Given the description of an element on the screen output the (x, y) to click on. 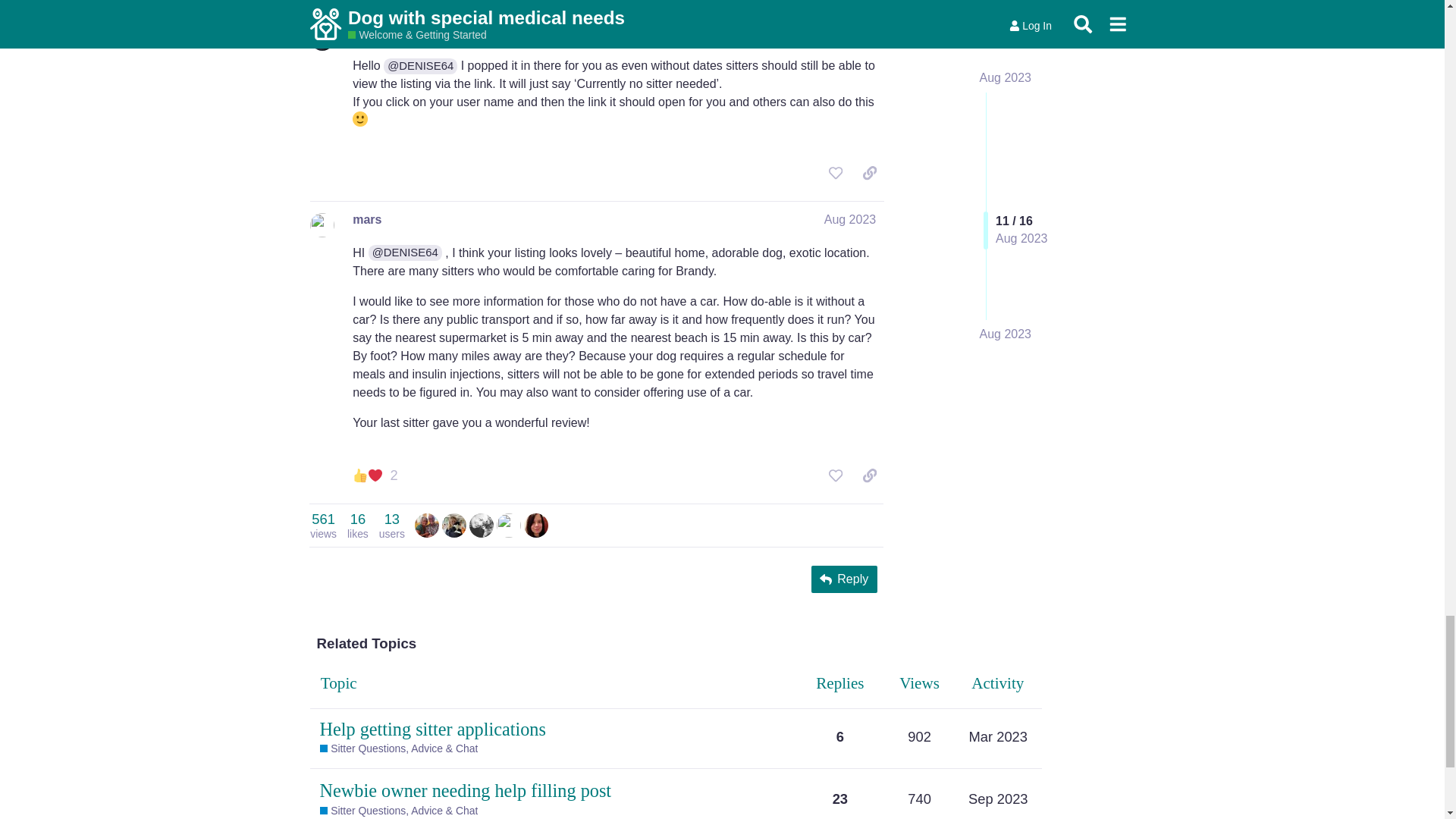
Samox24 (508, 523)
DENISE64 (426, 525)
WendyNL (392, 525)
Amparo (322, 525)
Amparo (536, 523)
Carla (480, 523)
WendyNL (480, 525)
Carla (453, 523)
